Given the description of an element on the screen output the (x, y) to click on. 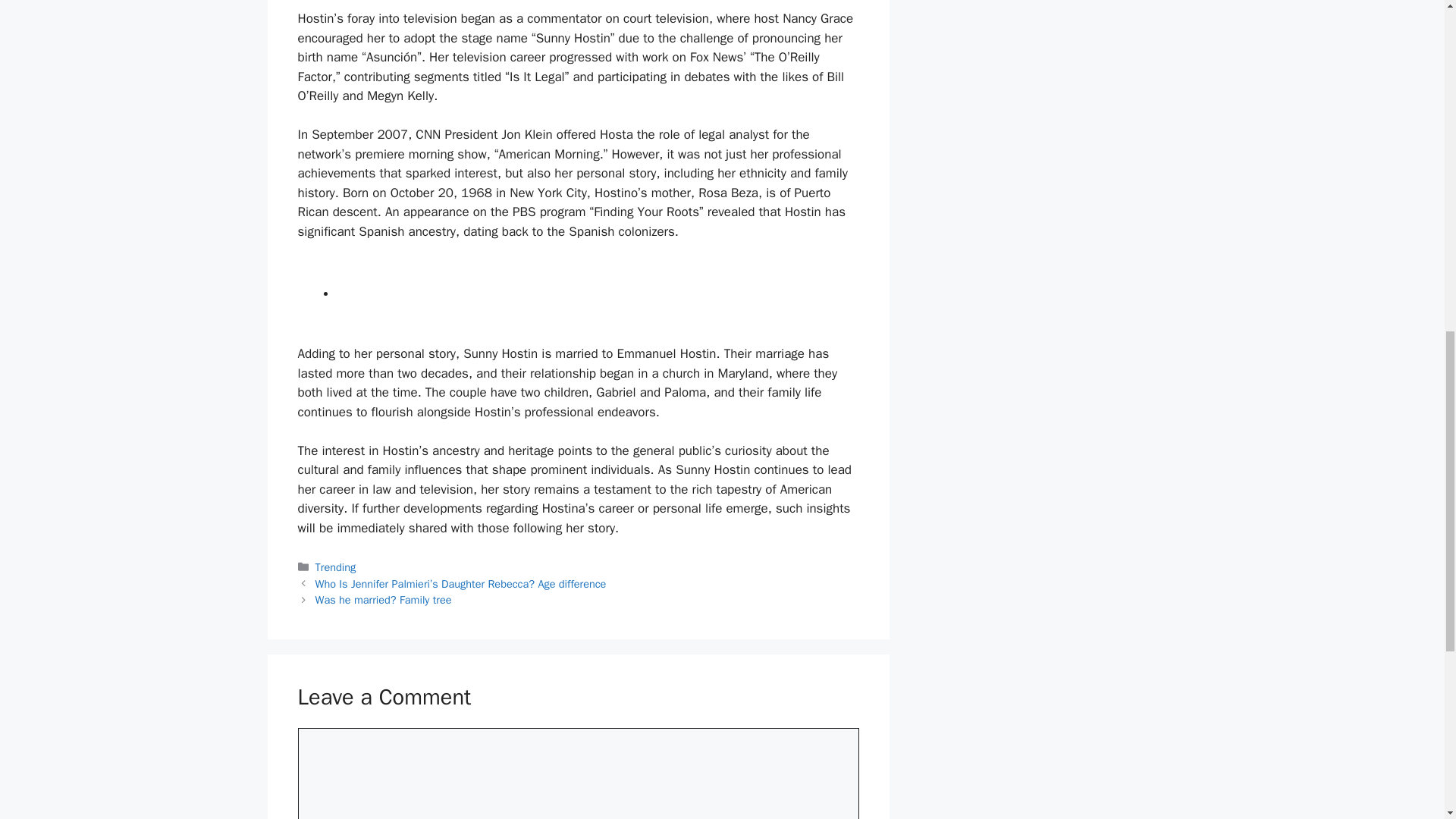
Was he married? Family tree (383, 599)
Trending (335, 567)
